Given the description of an element on the screen output the (x, y) to click on. 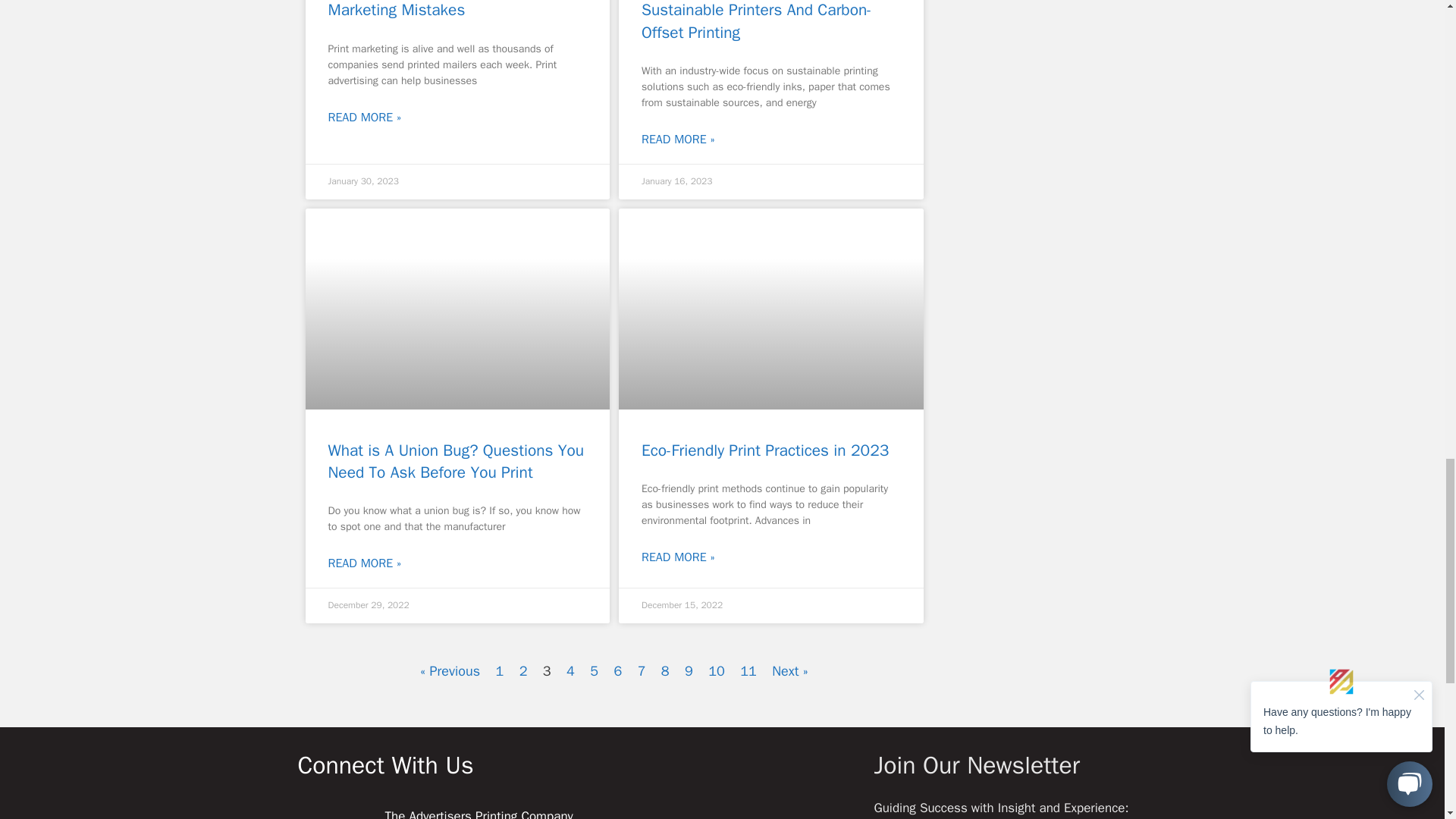
Form 0 (1046, 93)
